Given the description of an element on the screen output the (x, y) to click on. 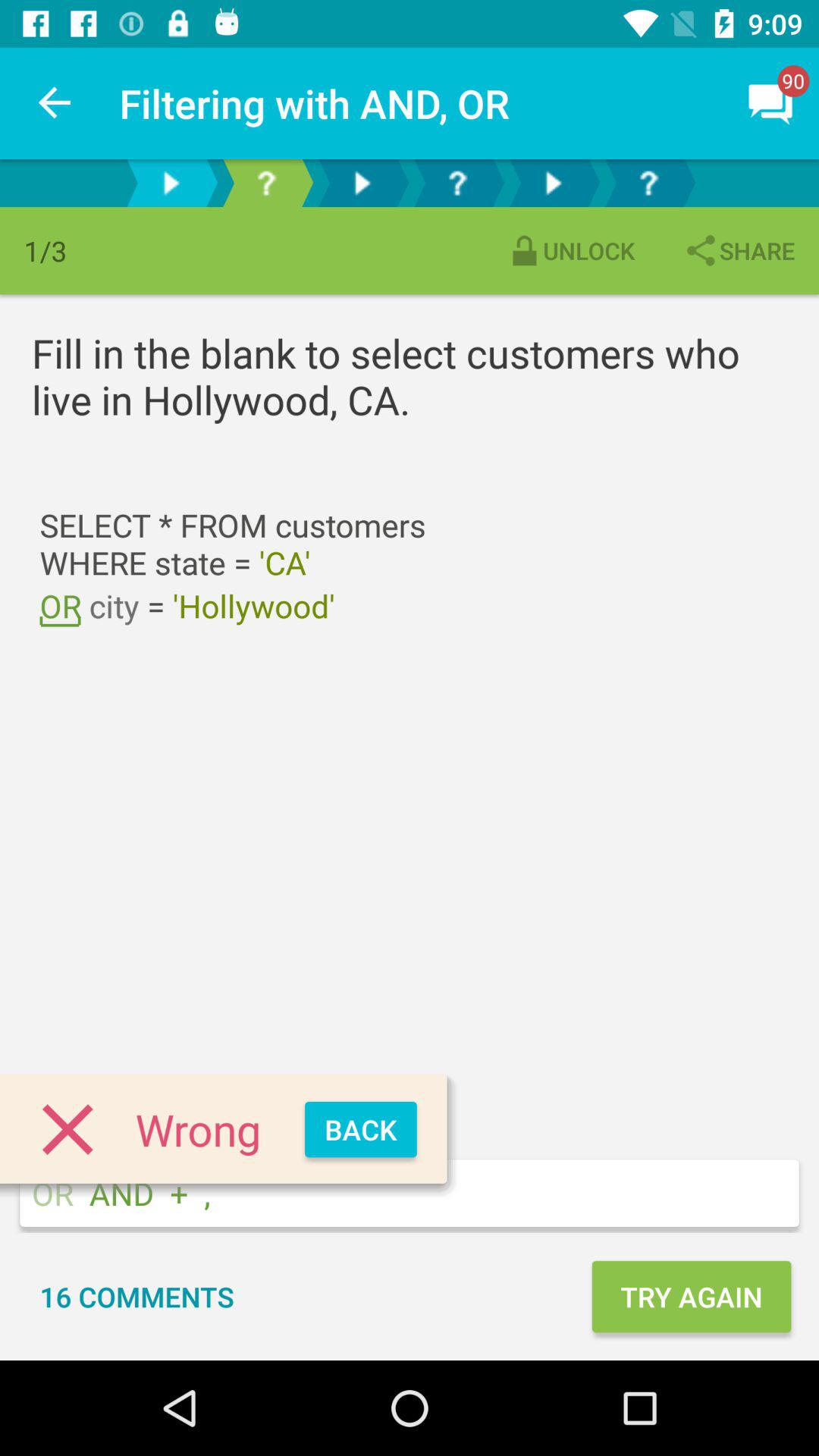
launch the item above the share icon (771, 103)
